Given the description of an element on the screen output the (x, y) to click on. 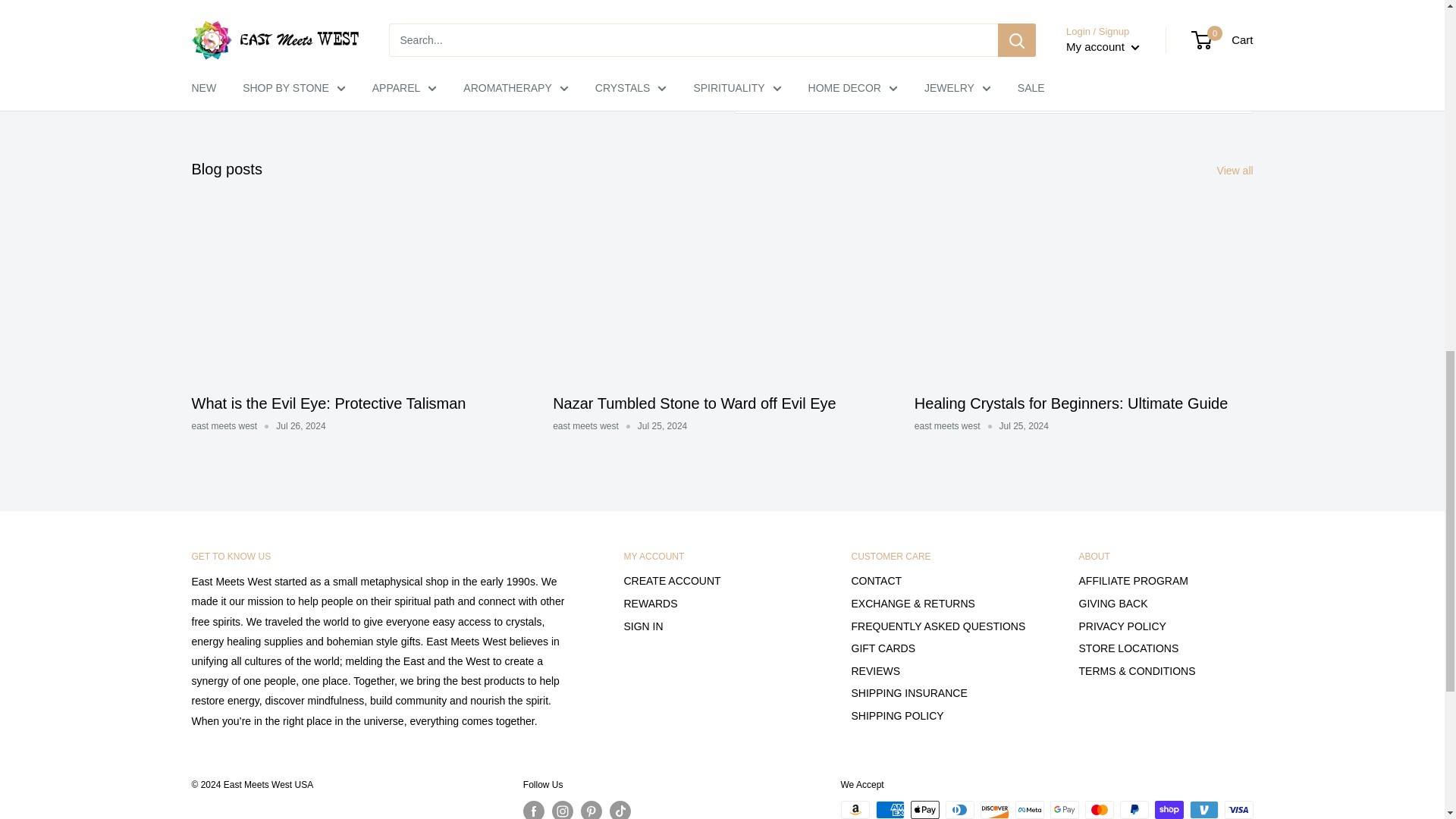
Add to wishlist (992, 70)
